Given the description of an element on the screen output the (x, y) to click on. 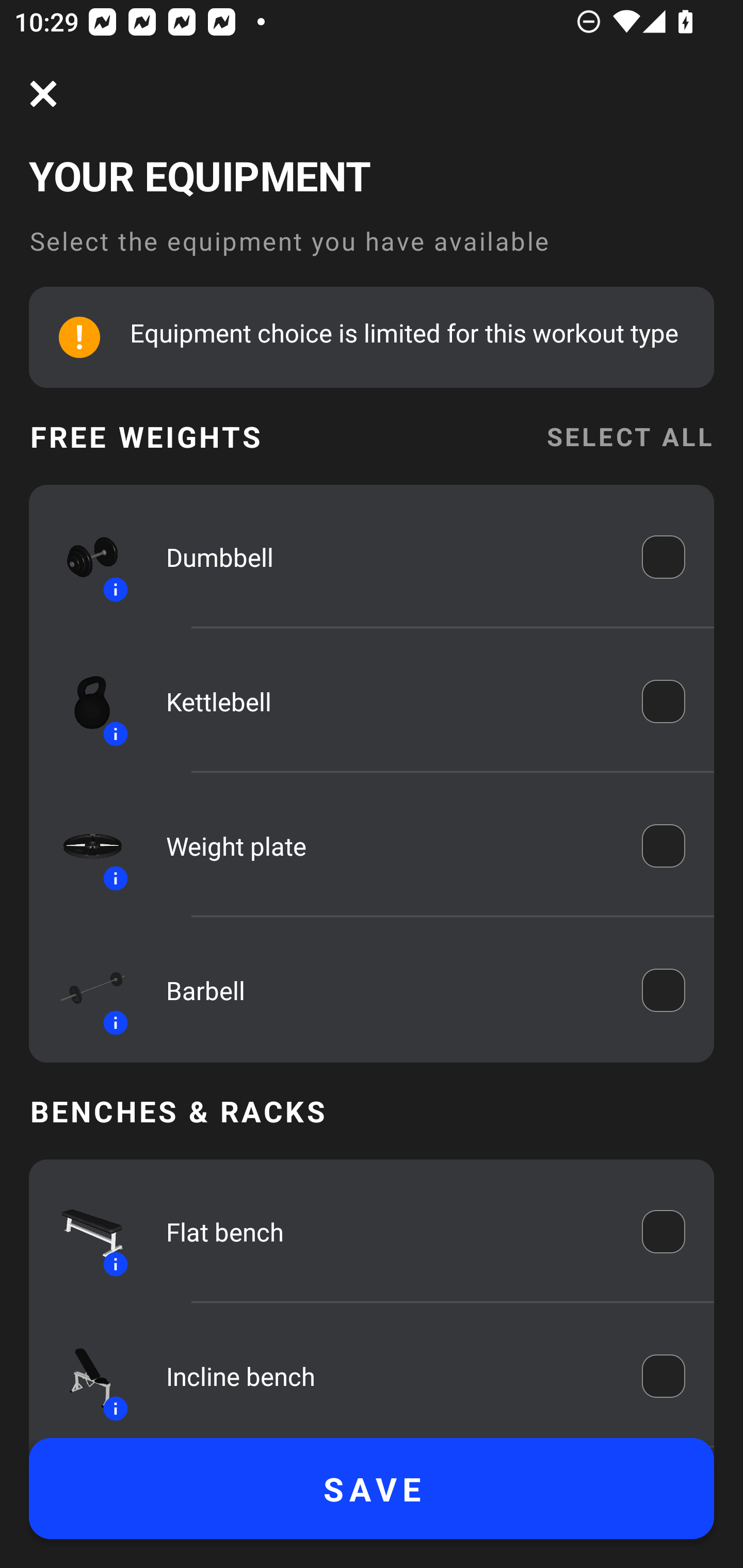
Navigation icon (43, 93)
SELECT ALL (629, 436)
Equipment icon Information icon (82, 557)
Dumbbell (389, 557)
Equipment icon Information icon (82, 701)
Kettlebell (389, 701)
Equipment icon Information icon (82, 845)
Weight plate (389, 845)
Equipment icon Information icon (82, 990)
Barbell (389, 990)
Equipment icon Information icon (82, 1231)
Flat bench (389, 1231)
Equipment icon Information icon (82, 1375)
Incline bench (389, 1375)
SAVE (371, 1488)
